Given the description of an element on the screen output the (x, y) to click on. 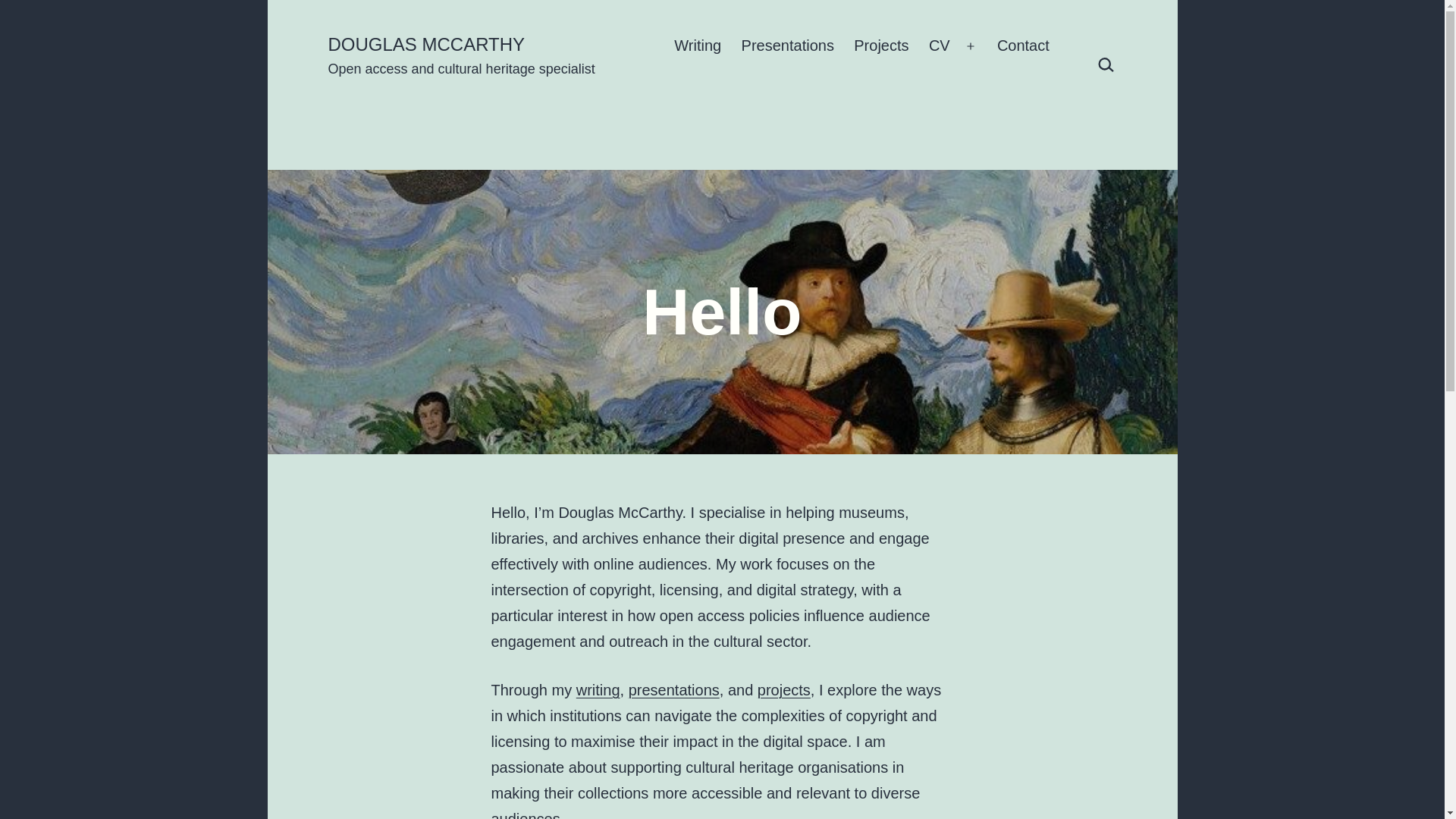
presentations (673, 689)
Presentations (787, 46)
writing (598, 689)
Contact (1023, 46)
projects (783, 689)
CV (938, 46)
Writing (696, 46)
Projects (881, 46)
